Given the description of an element on the screen output the (x, y) to click on. 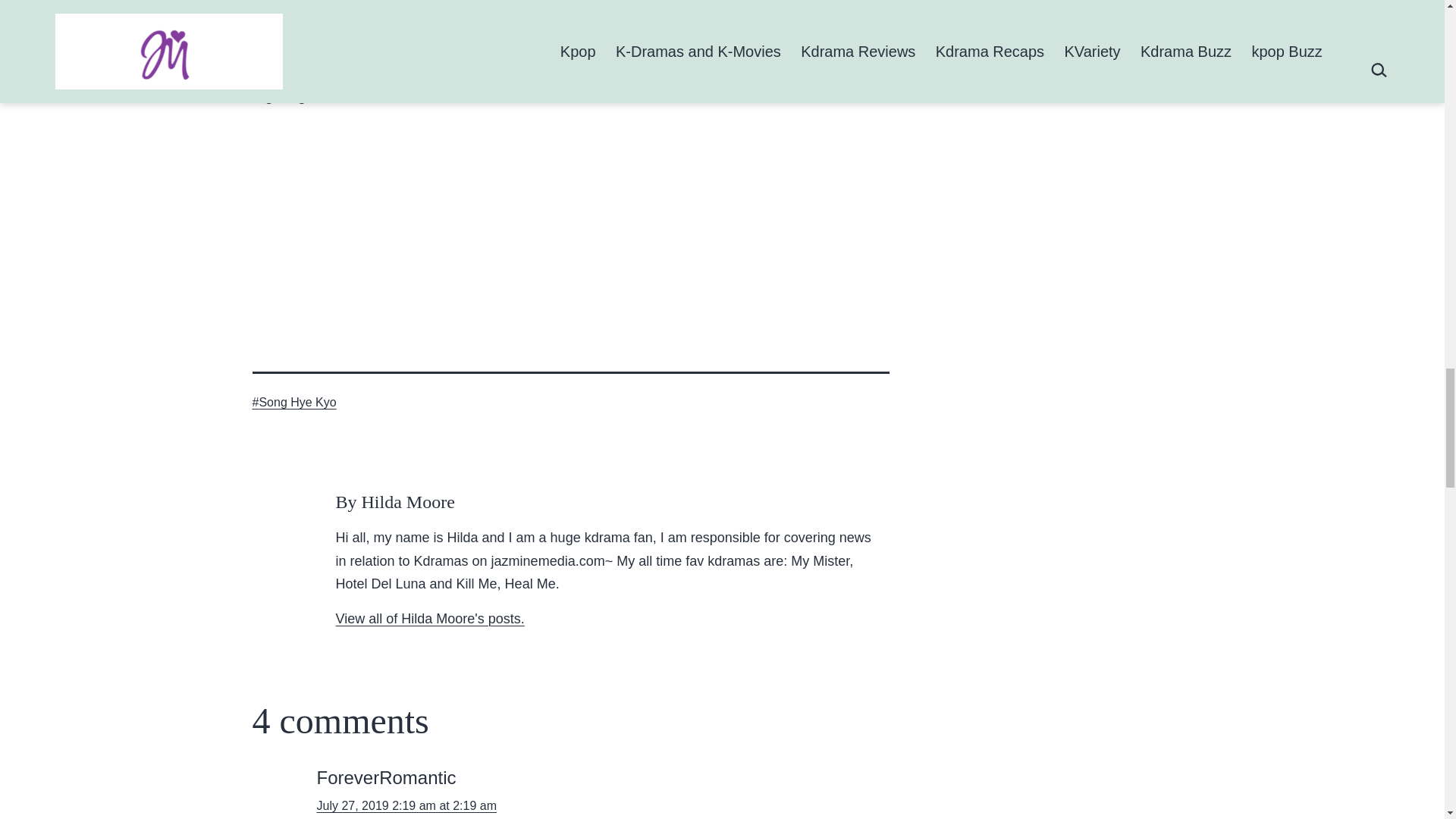
July 27, 2019 2:19 am at 2:19 am (406, 805)
Song Hye Kyo (293, 401)
View all of Hilda Moore's posts. (429, 618)
